Given the description of an element on the screen output the (x, y) to click on. 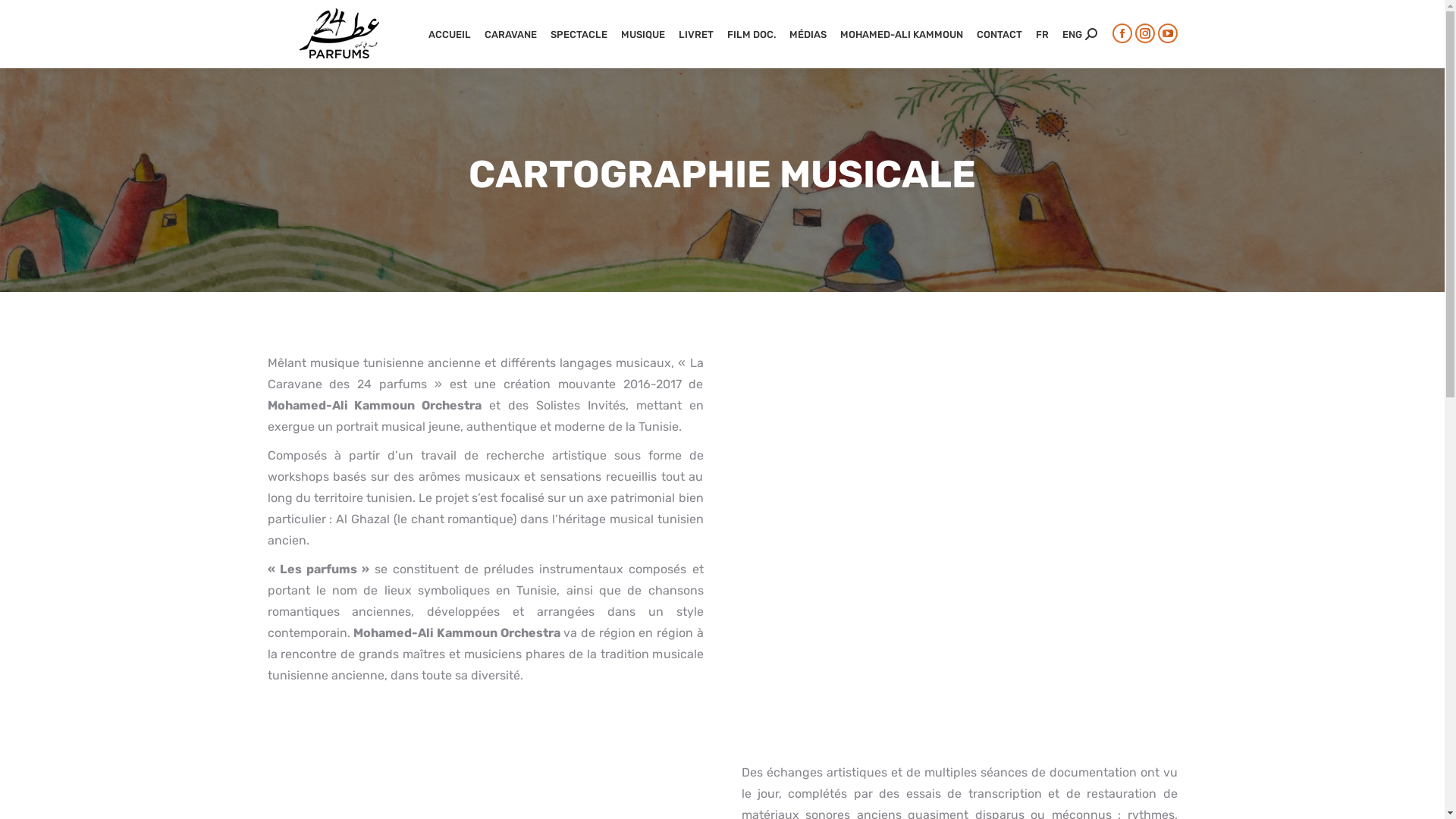
CONTACT Element type: text (999, 33)
ENG Element type: text (1071, 33)
YouTube page opens in new window Element type: text (1166, 32)
CARAVANE Element type: text (509, 33)
FILM DOC. Element type: text (750, 33)
Instagram page opens in new window Element type: text (1144, 32)
FR Element type: text (1041, 33)
MUSIQUE Element type: text (642, 33)
MOHAMED-ALI KAMMOUN Element type: text (901, 33)
ACCUEIL Element type: text (448, 33)
Aller ! Element type: text (33, 15)
SPECTACLE Element type: text (578, 33)
Facebook page opens in new window Element type: text (1121, 32)
LIVRET Element type: text (694, 33)
